Given the description of an element on the screen output the (x, y) to click on. 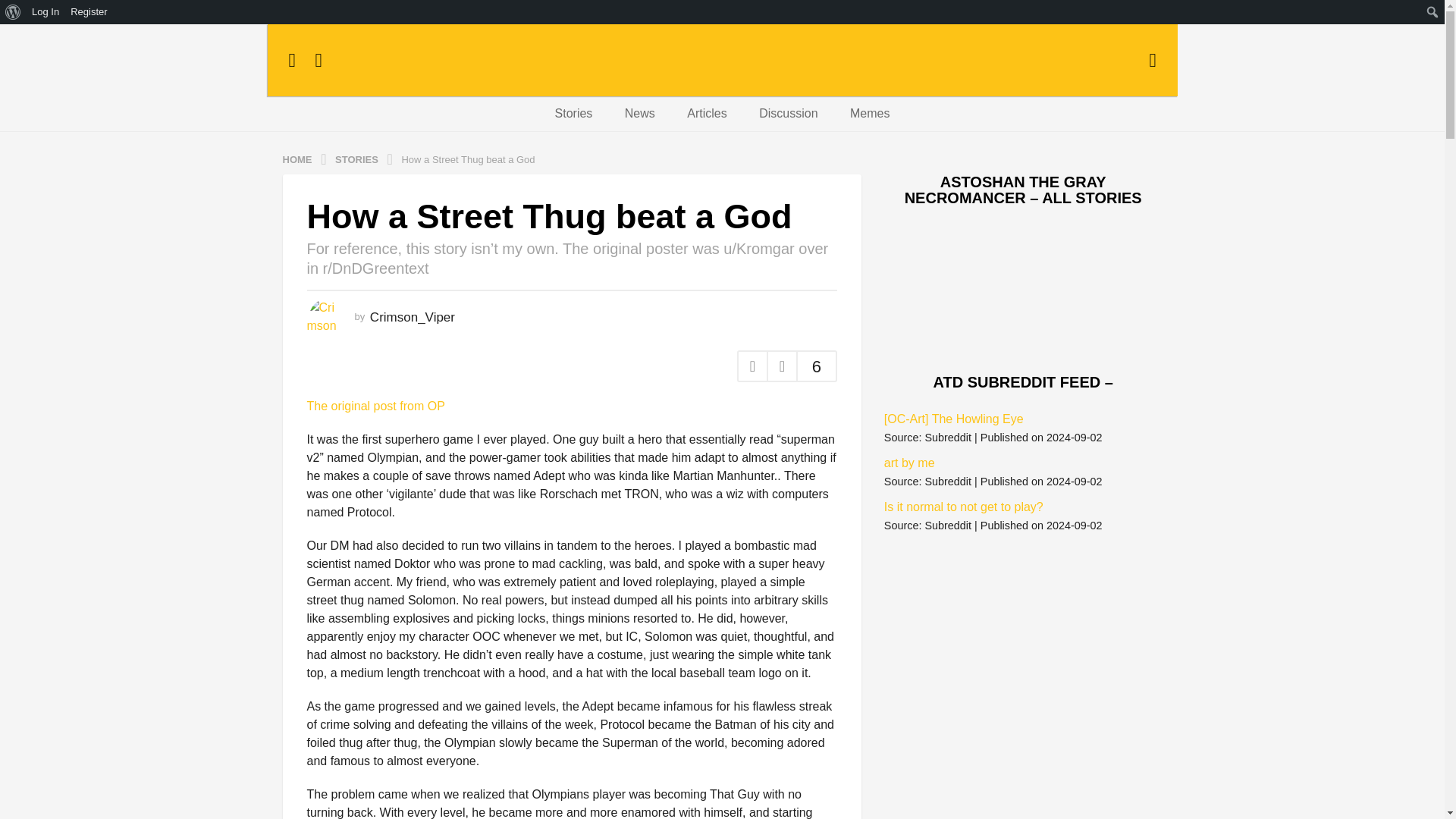
Search (15, 12)
Log In (45, 12)
Register (89, 12)
